Given the description of an element on the screen output the (x, y) to click on. 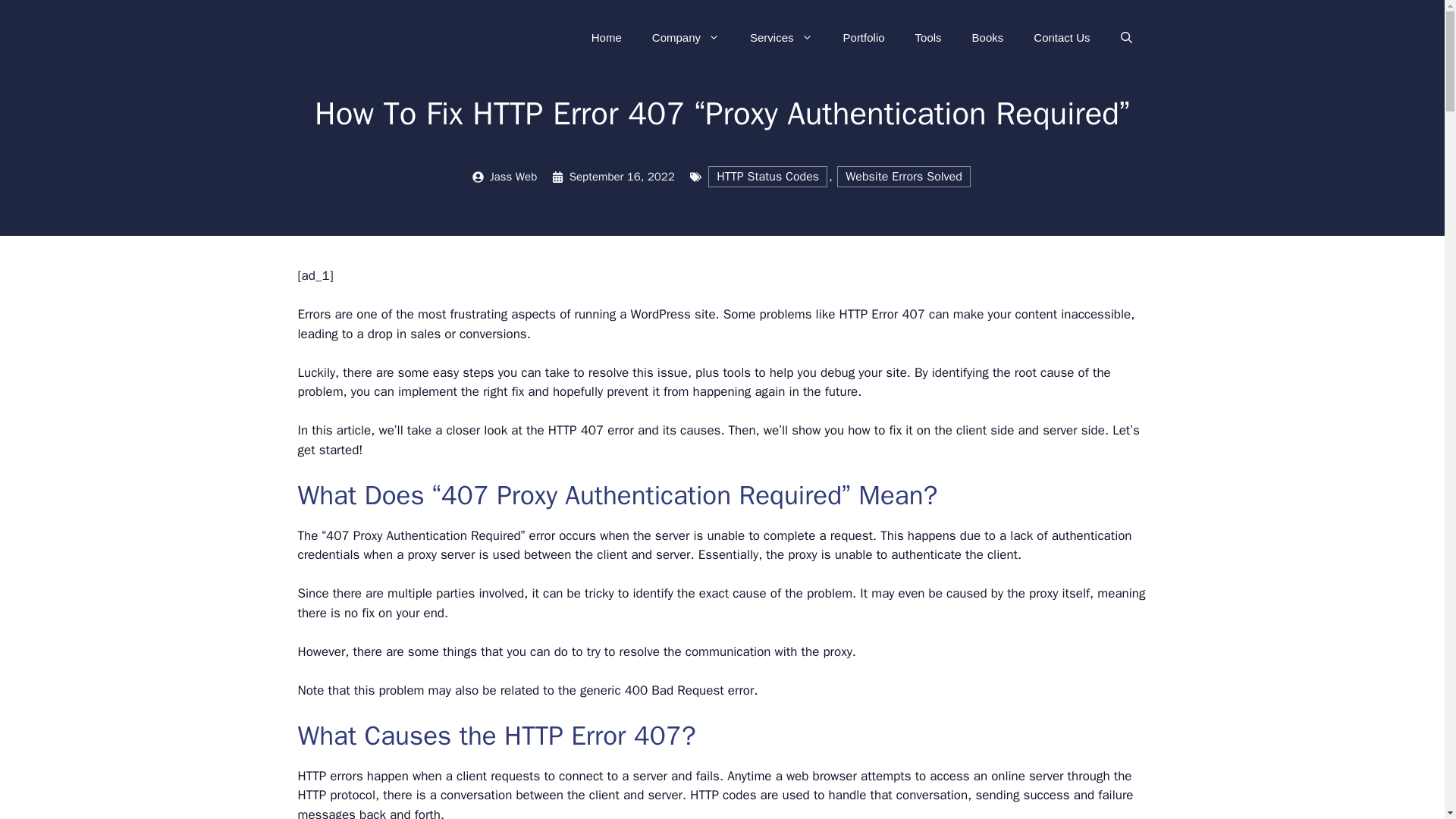
HTTP Status Codes (767, 176)
Home (606, 37)
Tools (927, 37)
Books (987, 37)
Portfolio (863, 37)
Jassweb (380, 36)
Services (781, 37)
Website Errors Solved (903, 176)
Contact Us (1061, 37)
Jassweb (380, 37)
